Given the description of an element on the screen output the (x, y) to click on. 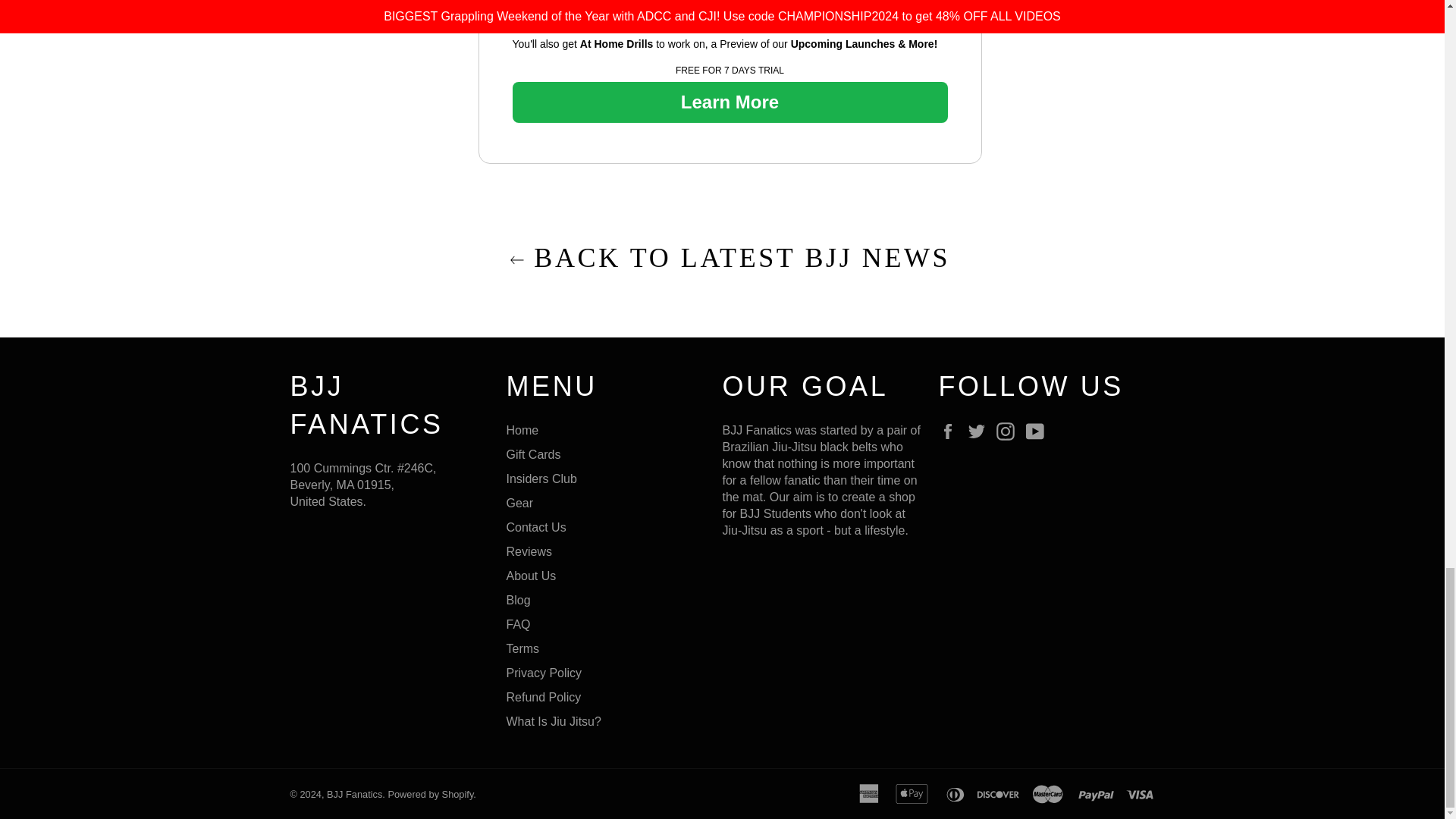
BJJ Fanatics on Facebook (951, 431)
BJJ Fanatics on Twitter (980, 431)
BJJ Fanatics on YouTube (1038, 431)
BJJ Fanatics on Instagram (1008, 431)
